Given the description of an element on the screen output the (x, y) to click on. 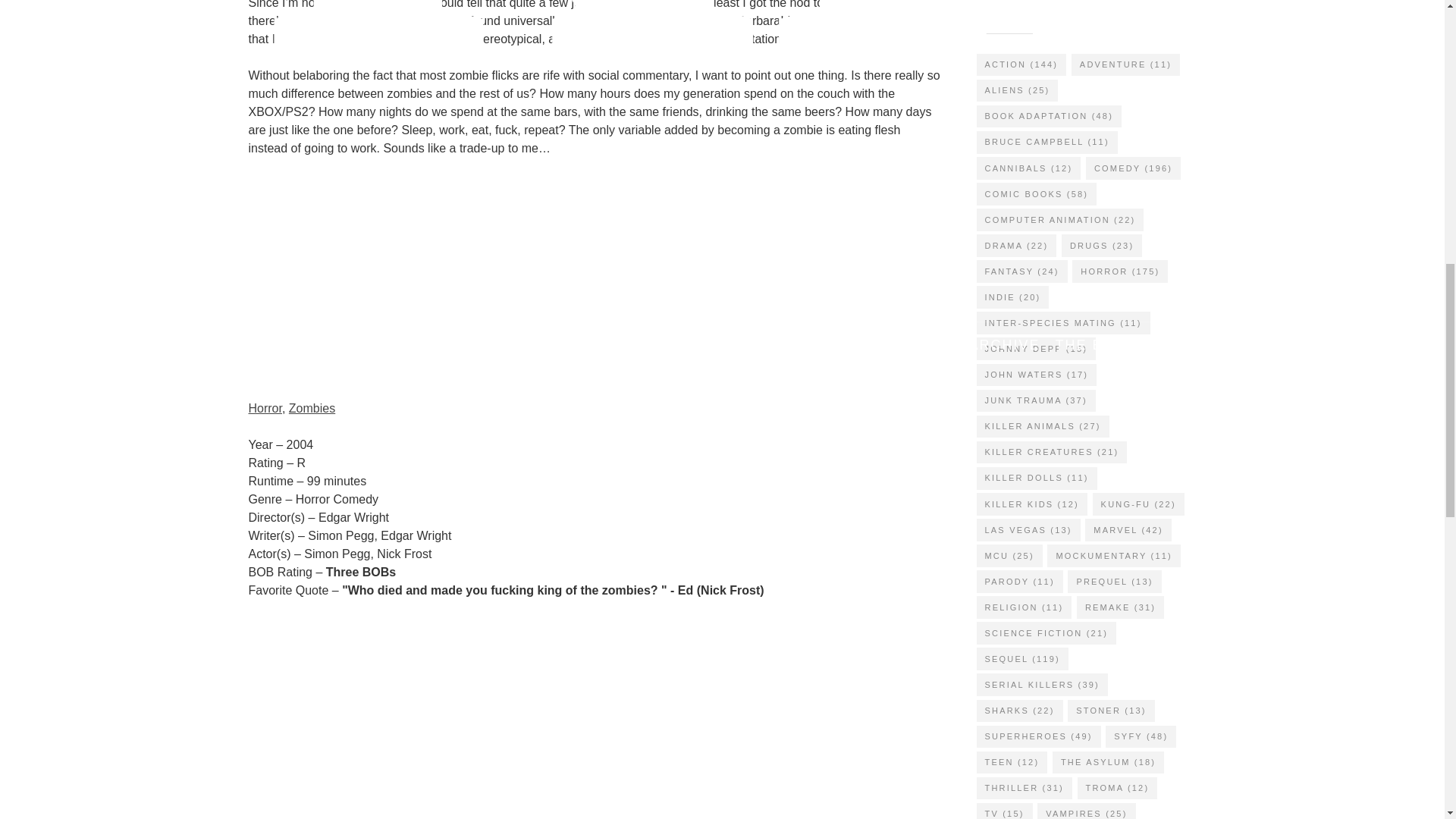
DAILY PROPAGANDA ARCHIVE (767, 345)
HOME (361, 345)
THE BOB SYSTEM (1124, 345)
Zombies (311, 408)
Horror (265, 408)
MOVIE WATCHING CALENDAR (516, 345)
REVIEW ARCHIVE (970, 345)
